Given the description of an element on the screen output the (x, y) to click on. 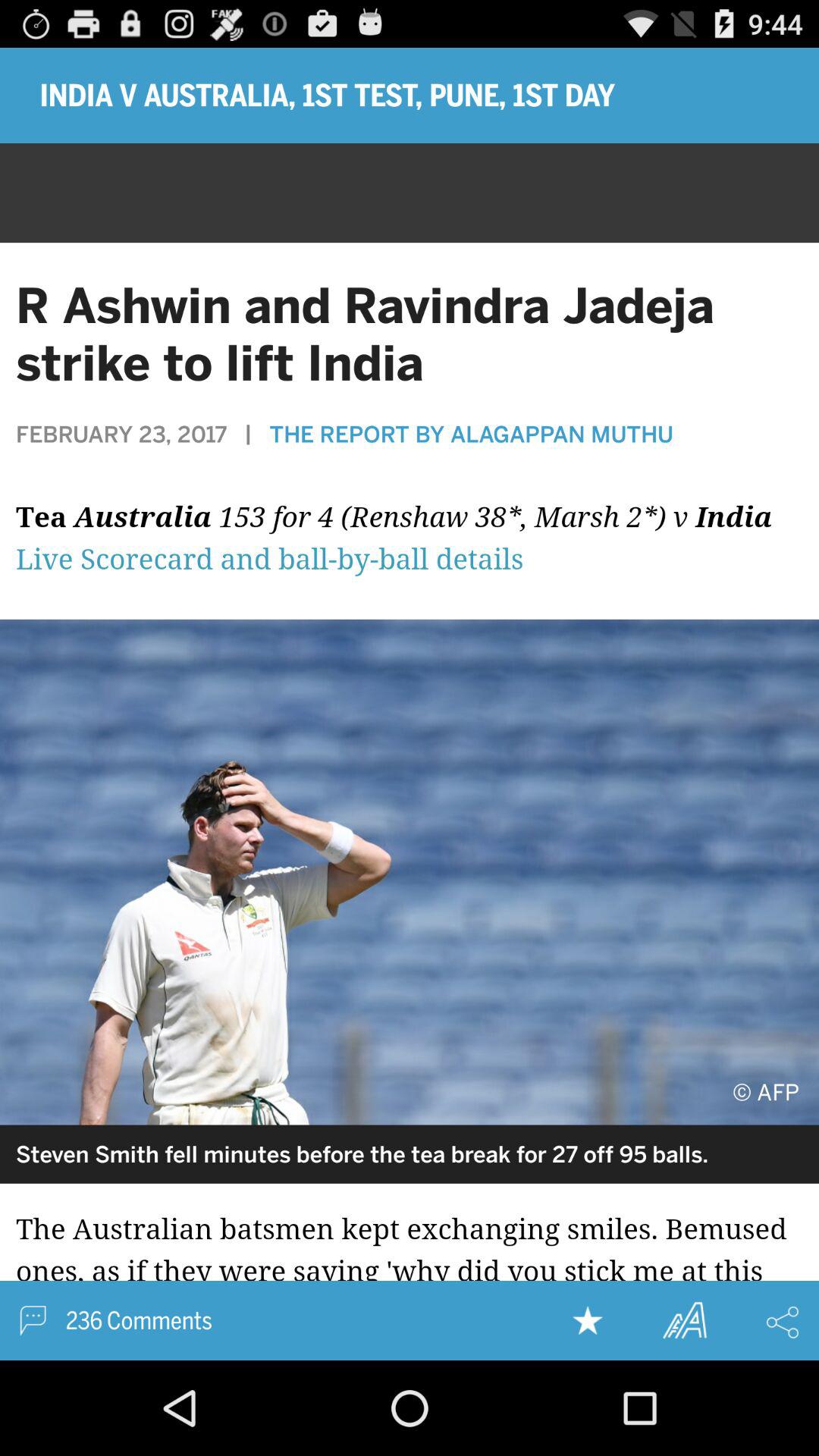
add this to favorites (587, 1319)
